Given the description of an element on the screen output the (x, y) to click on. 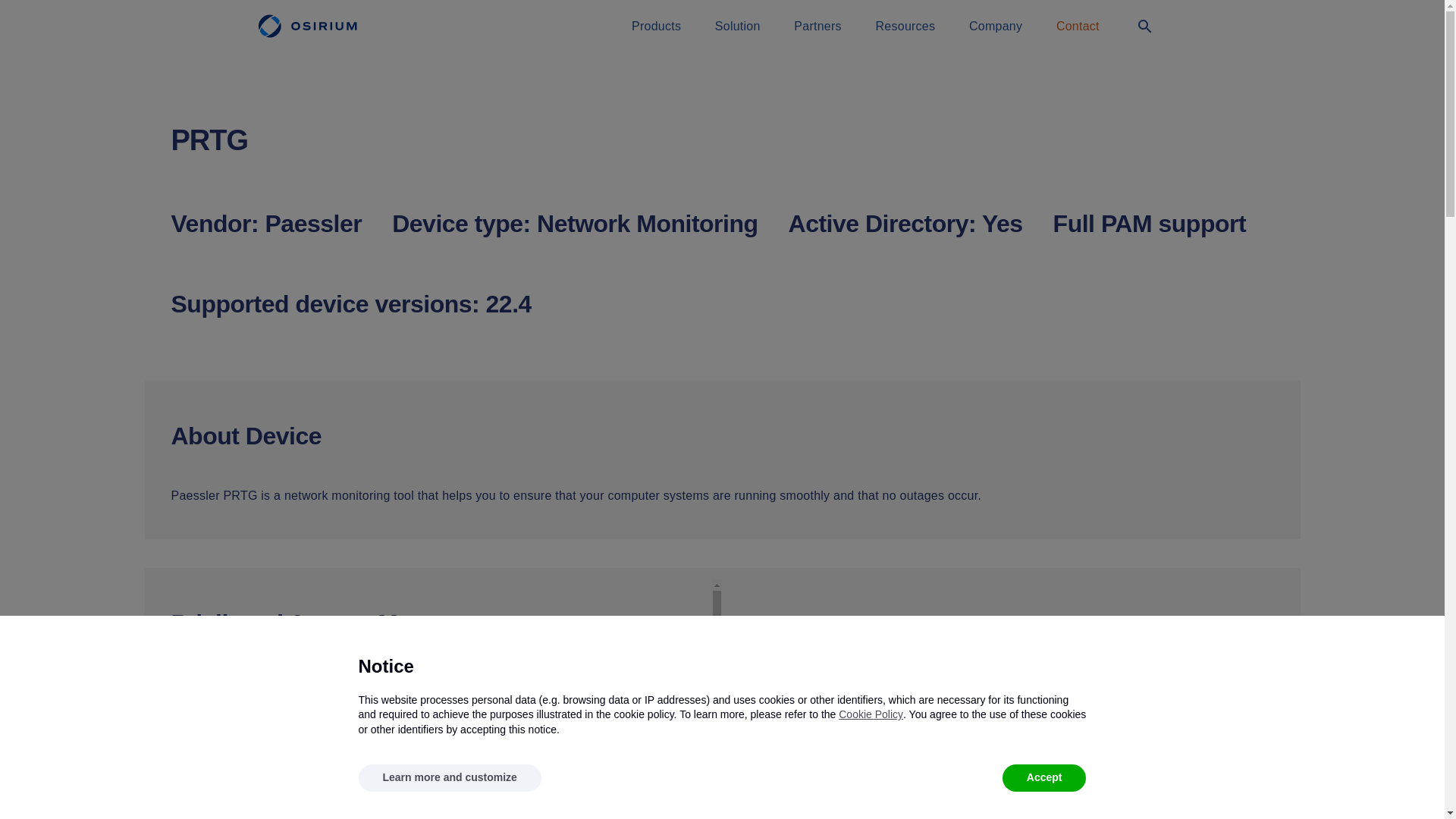
Return to Top (33, 784)
Open search field (1144, 26)
Edge, Chrome, Safari and Firefox (256, 757)
Open the search field (1144, 26)
